Given the description of an element on the screen output the (x, y) to click on. 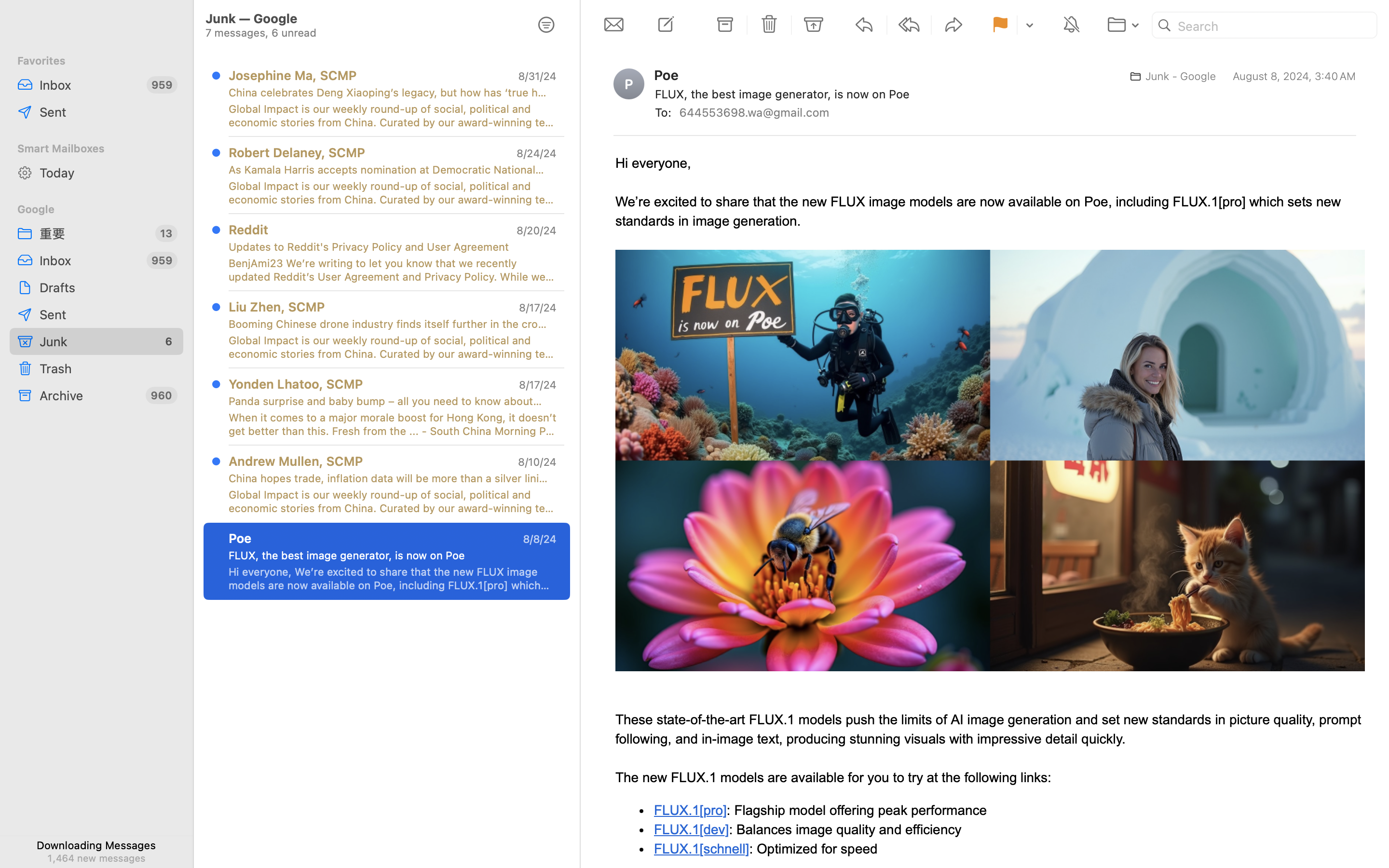
: Flagship model offering peak performance Element type: AXStaticText (856, 809)
Downloading Messages Element type: AXStaticText (96, 844)
8/24/24 Element type: AXStaticText (535, 153)
Smart Mailboxes Element type: AXStaticText (96, 148)
FLUX.1[dev] Element type: AXStaticText (691, 829)
